Given the description of an element on the screen output the (x, y) to click on. 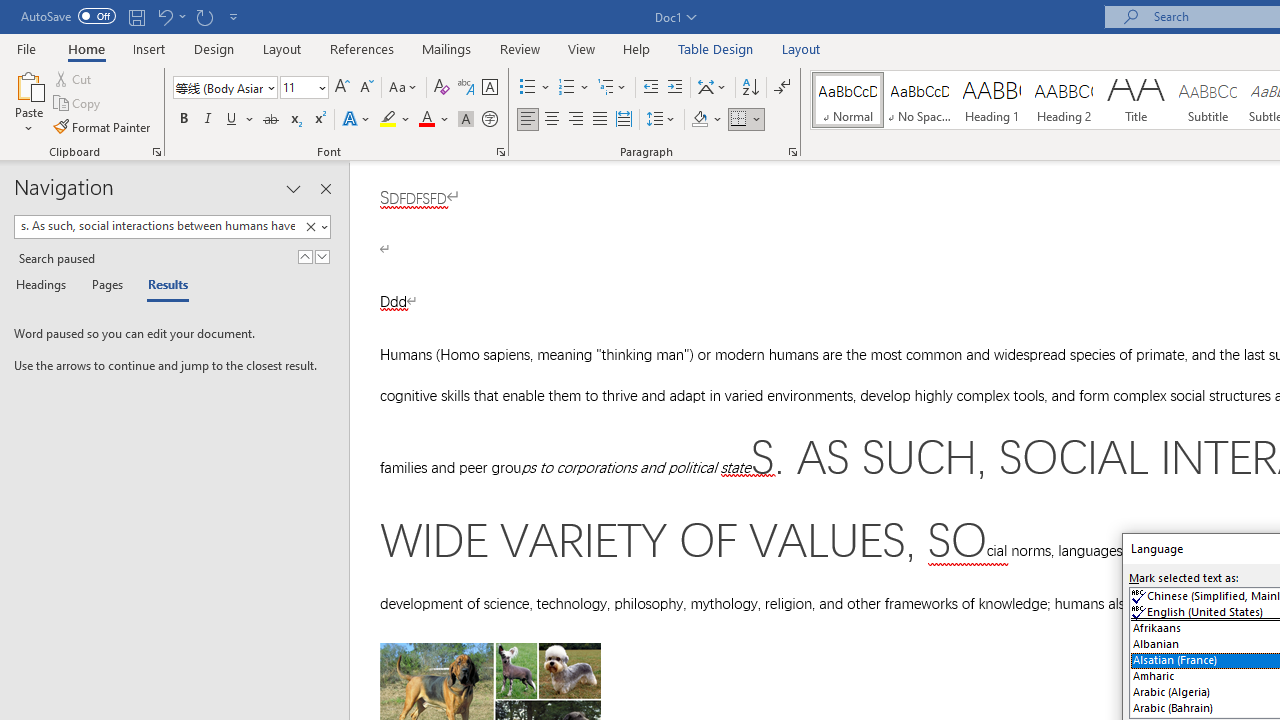
File Tab (26, 48)
Phonetic Guide... (465, 87)
